Given the description of an element on the screen output the (x, y) to click on. 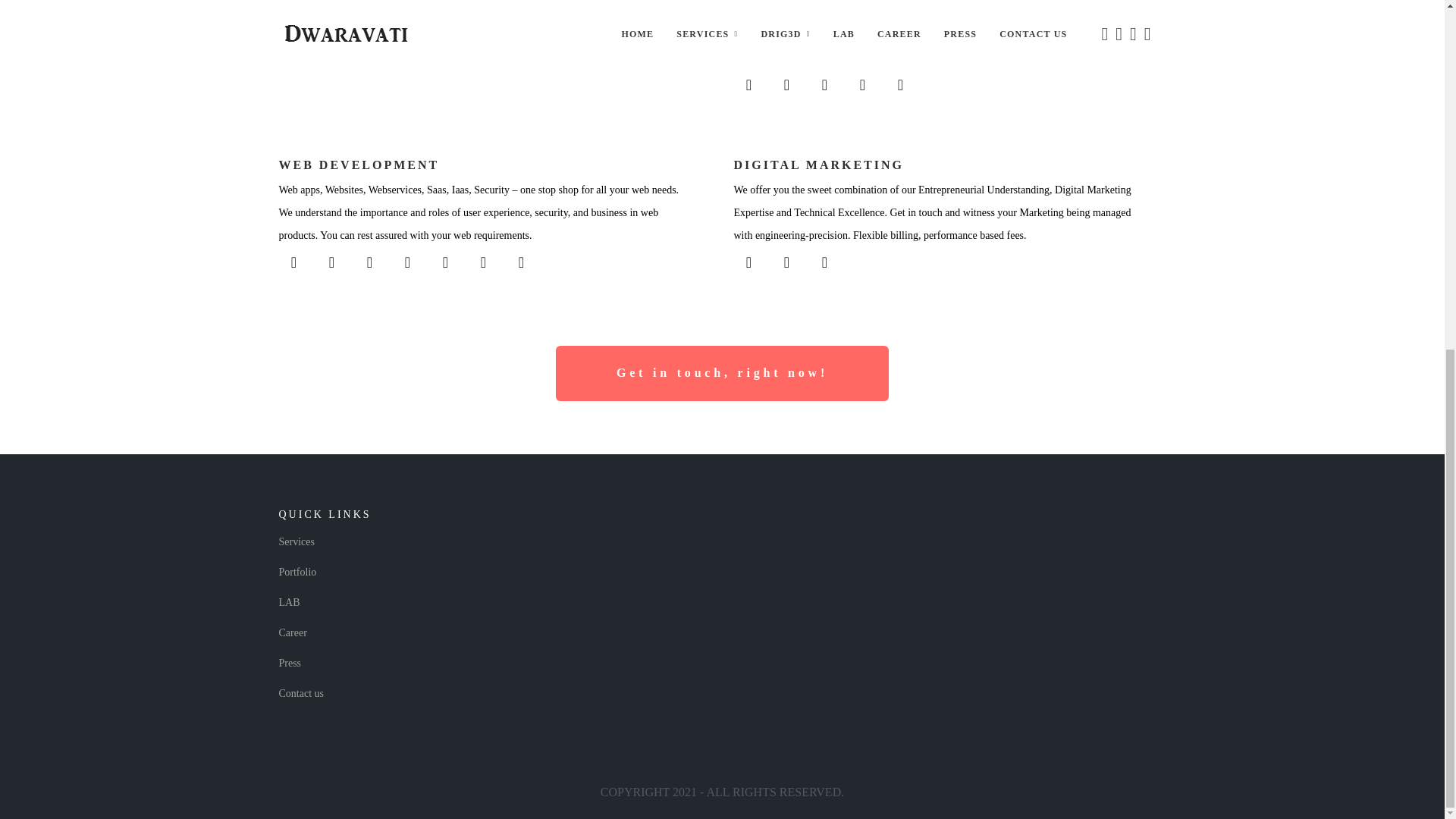
Dwaravati Lab (289, 602)
